Given the description of an element on the screen output the (x, y) to click on. 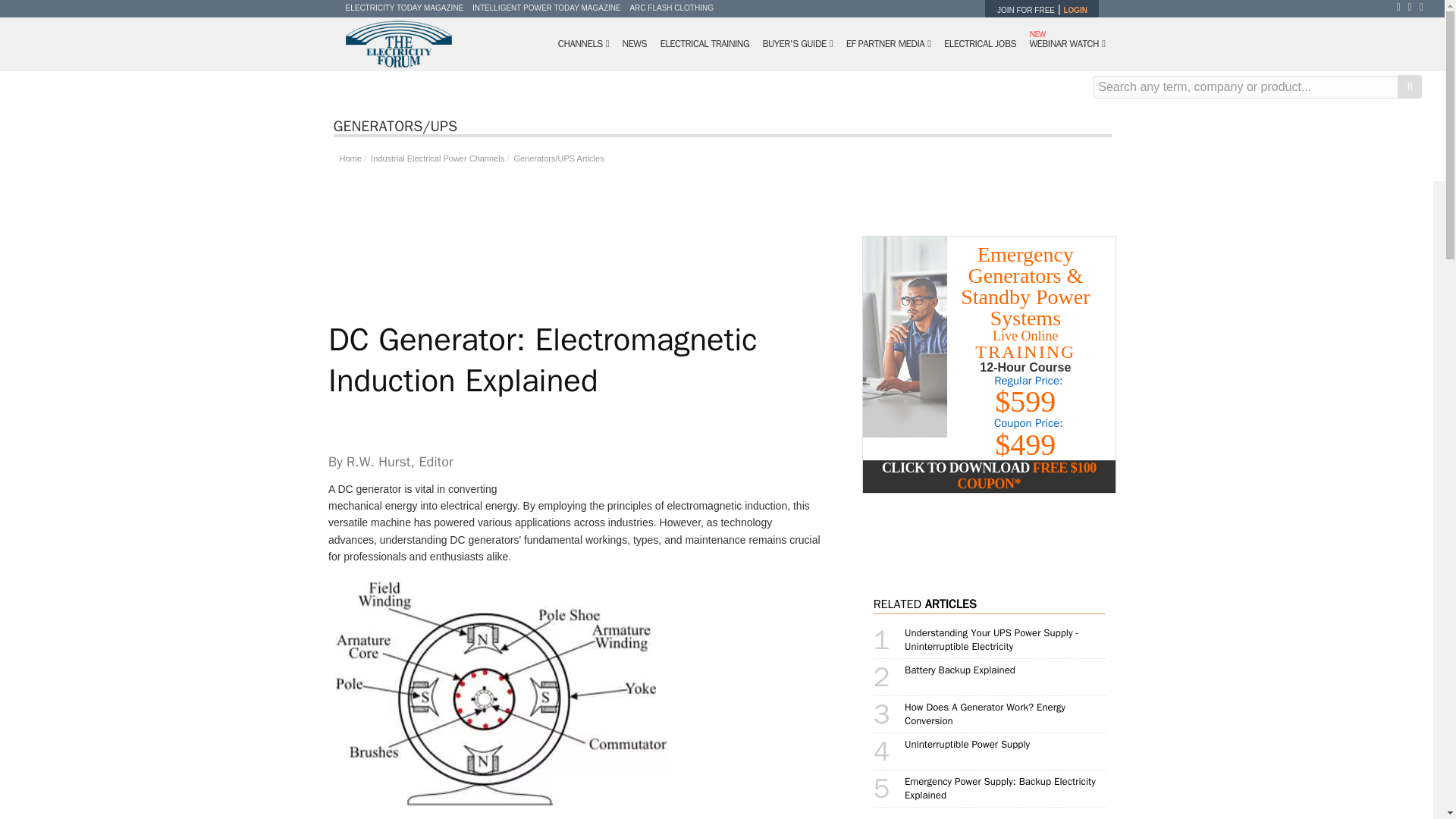
Facebook (1401, 6)
Industrial Electrical Power Channels (435, 157)
BUYER'S GUIDE (797, 44)
WEBINAR WATCH (1066, 44)
CHANNELS (583, 44)
LOGIN (1074, 9)
ELECTRICAL TRAINING (703, 44)
LinkedIn (1425, 6)
ELECTRICITY TODAY MAGAZINE (405, 8)
ELECTRICAL JOBS (980, 44)
Home (350, 157)
Twitter (1413, 6)
INTELLIGENT POWER TODAY MAGAZINE (546, 8)
JOIN FOR FREE (1025, 9)
EF PARTNER MEDIA (888, 44)
